Given the description of an element on the screen output the (x, y) to click on. 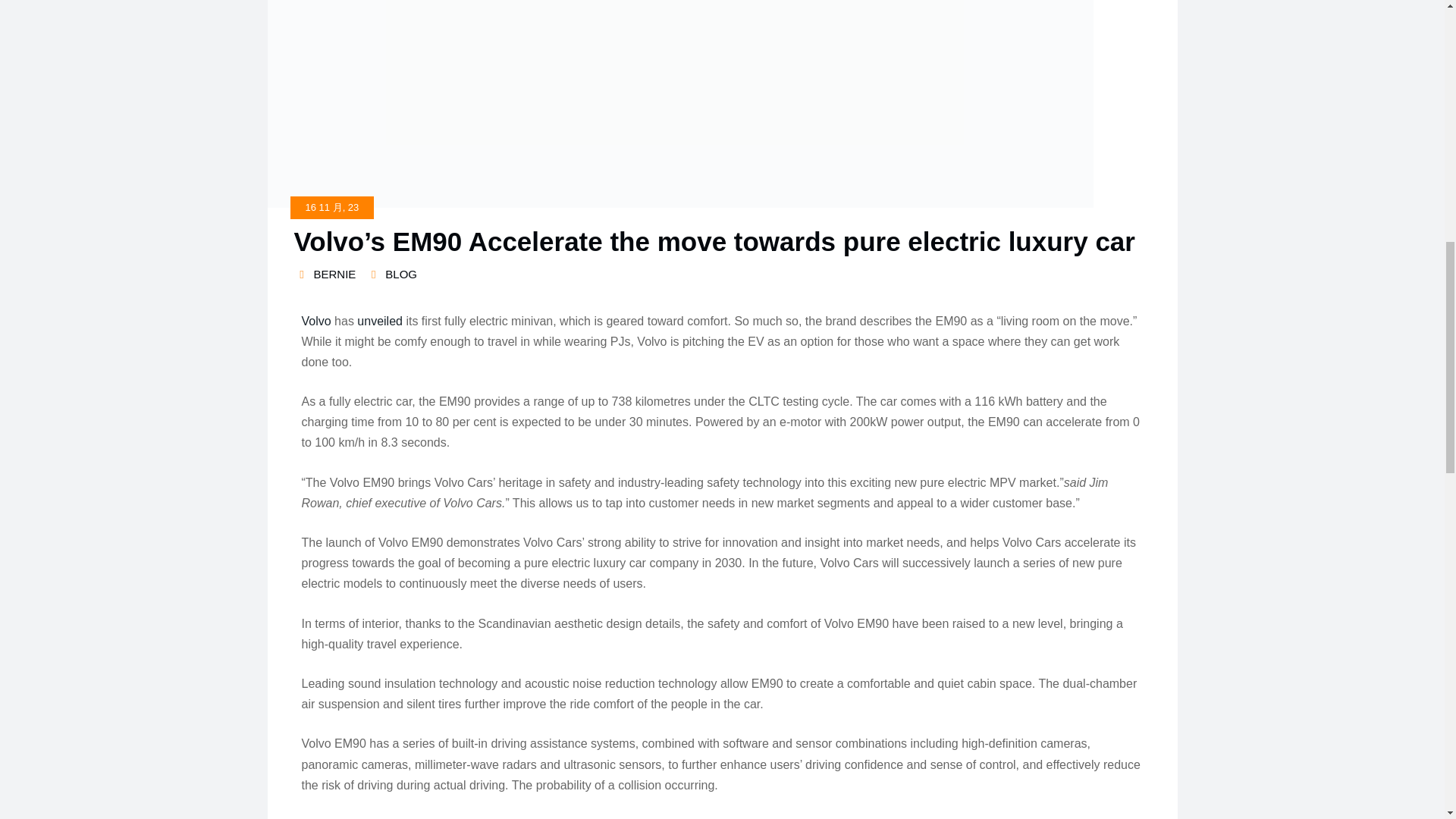
Volvo (316, 319)
BLOG (400, 273)
BERNIE (325, 273)
unveiled (379, 319)
